Given the description of an element on the screen output the (x, y) to click on. 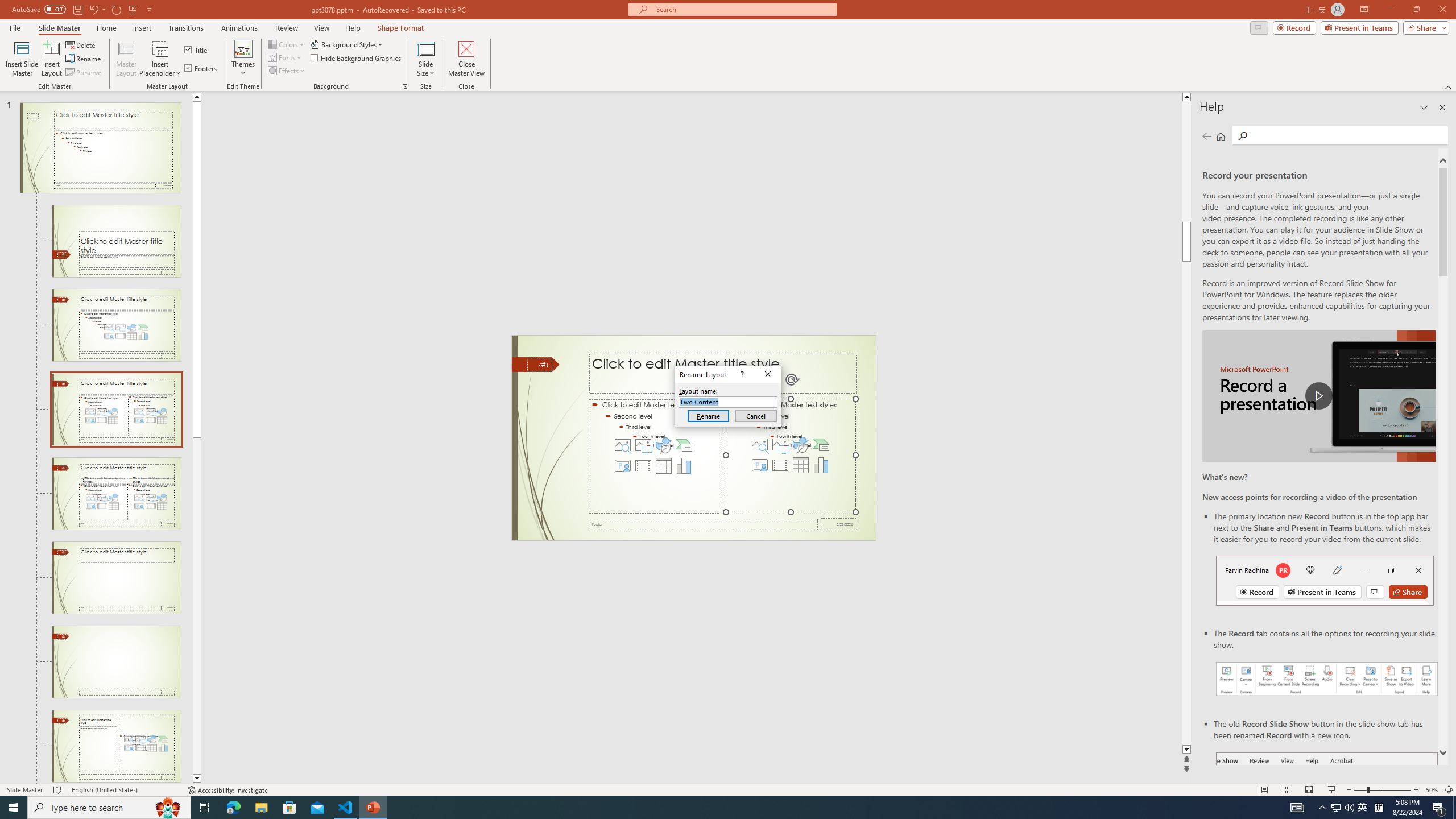
Effects (287, 69)
Cancel (756, 415)
Title (196, 49)
Context help (741, 374)
Previous page (1206, 136)
